Given the description of an element on the screen output the (x, y) to click on. 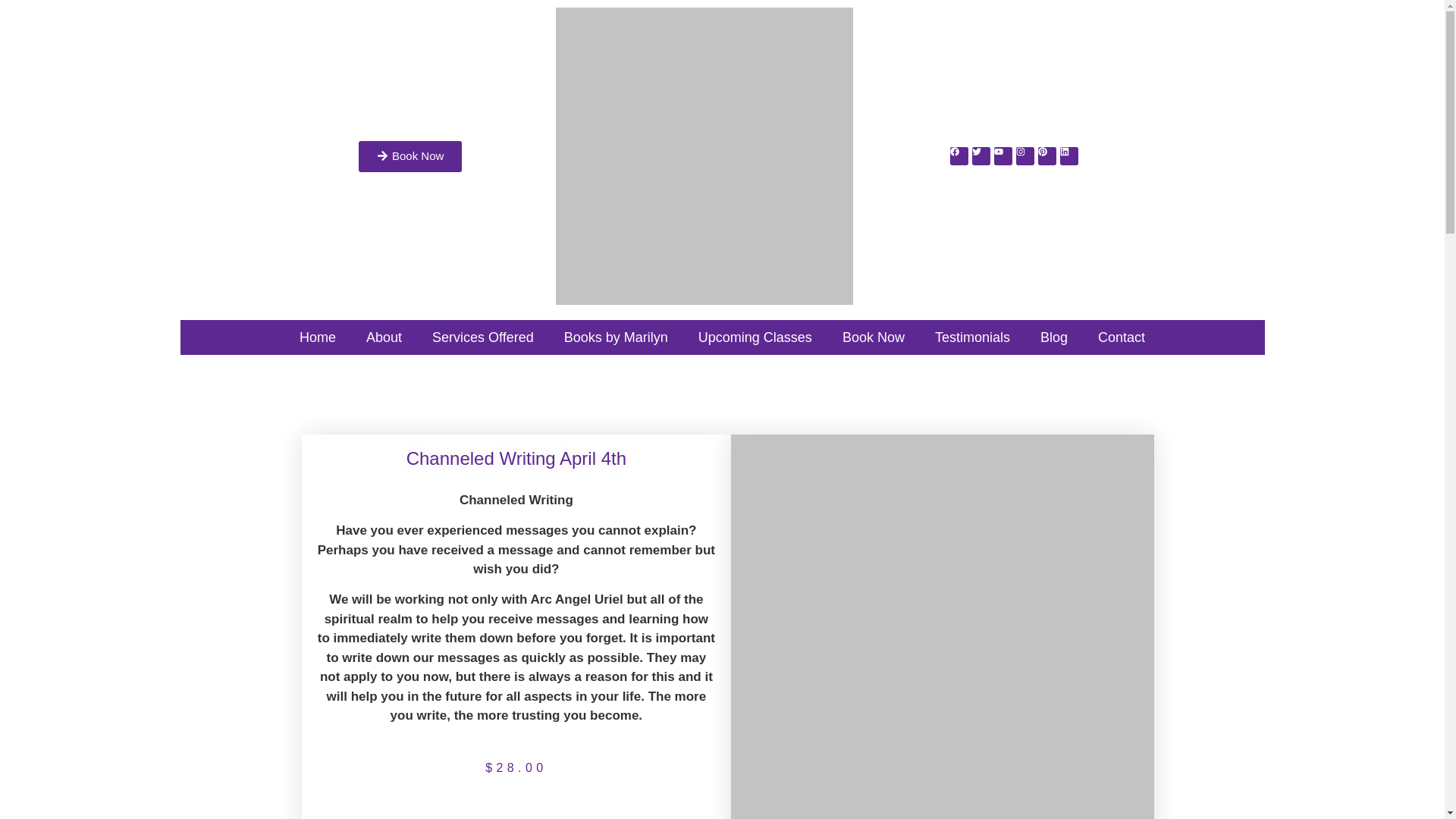
Services Offered (482, 337)
Book Now (409, 155)
Books by Marilyn (615, 337)
Testimonials (972, 337)
Home (316, 337)
Blog (1054, 337)
Book Now (873, 337)
Upcoming Classes (754, 337)
Contact (1121, 337)
About (383, 337)
